Given the description of an element on the screen output the (x, y) to click on. 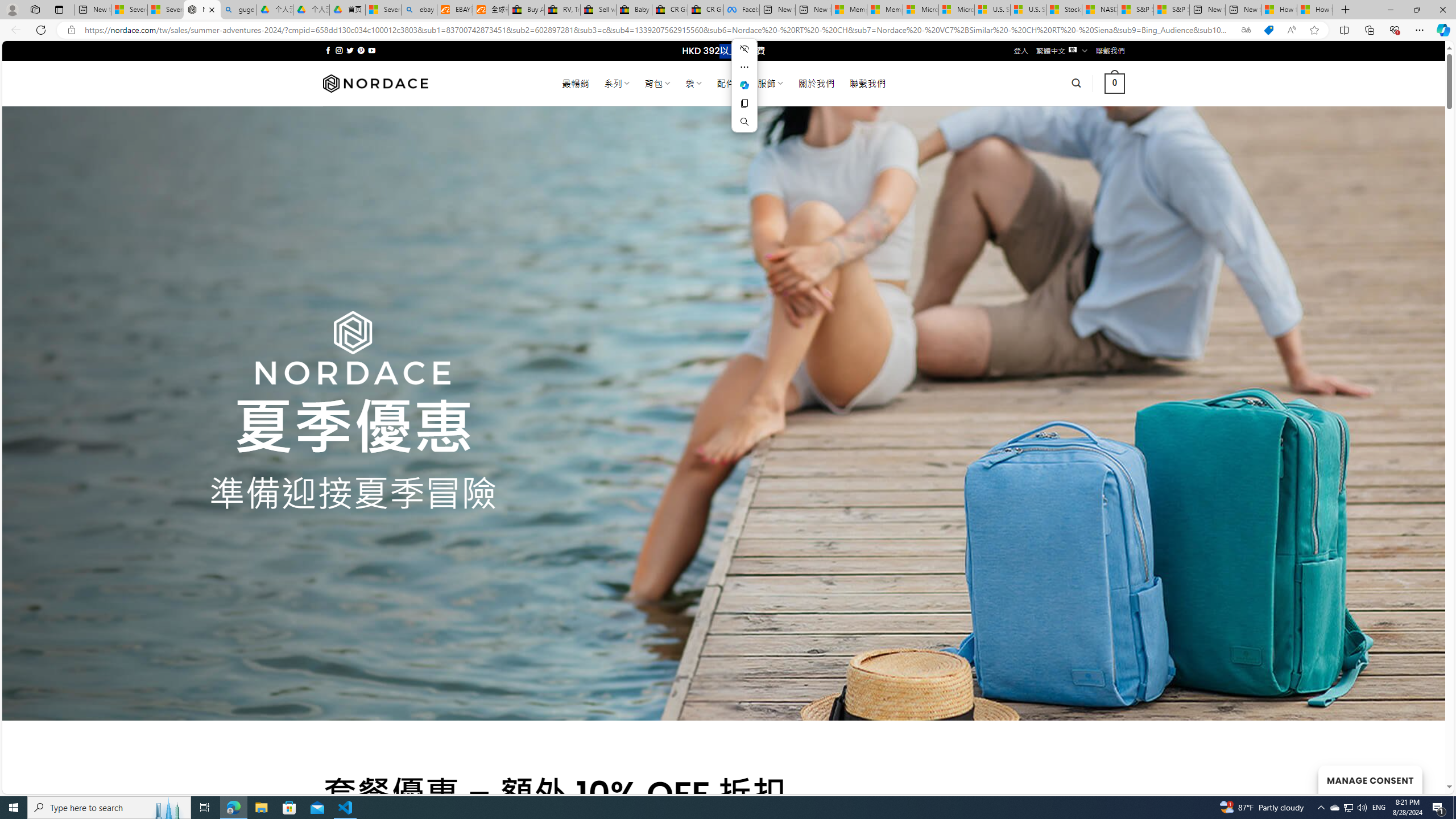
Follow on Facebook (327, 50)
Copy (744, 103)
Baby Keepsakes & Announcements for sale | eBay (633, 9)
RV, Trailer & Camper Steps & Ladders for sale | eBay (562, 9)
Mini menu on text selection (743, 91)
